Given the description of an element on the screen output the (x, y) to click on. 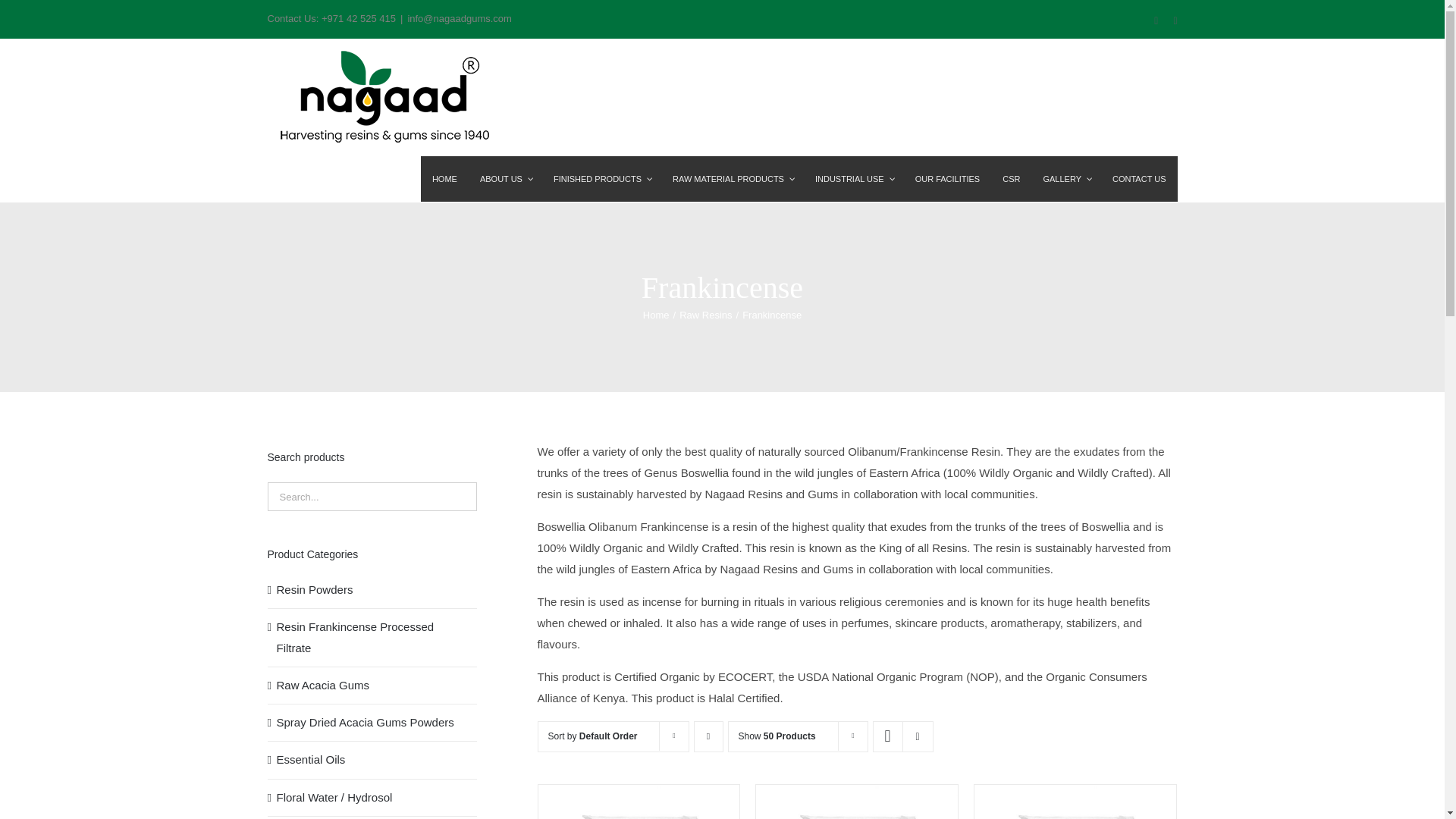
FINISHED PRODUCTS (601, 178)
ABOUT US (504, 178)
RAW MATERIAL PRODUCTS (732, 178)
HOME (444, 178)
